Given the description of an element on the screen output the (x, y) to click on. 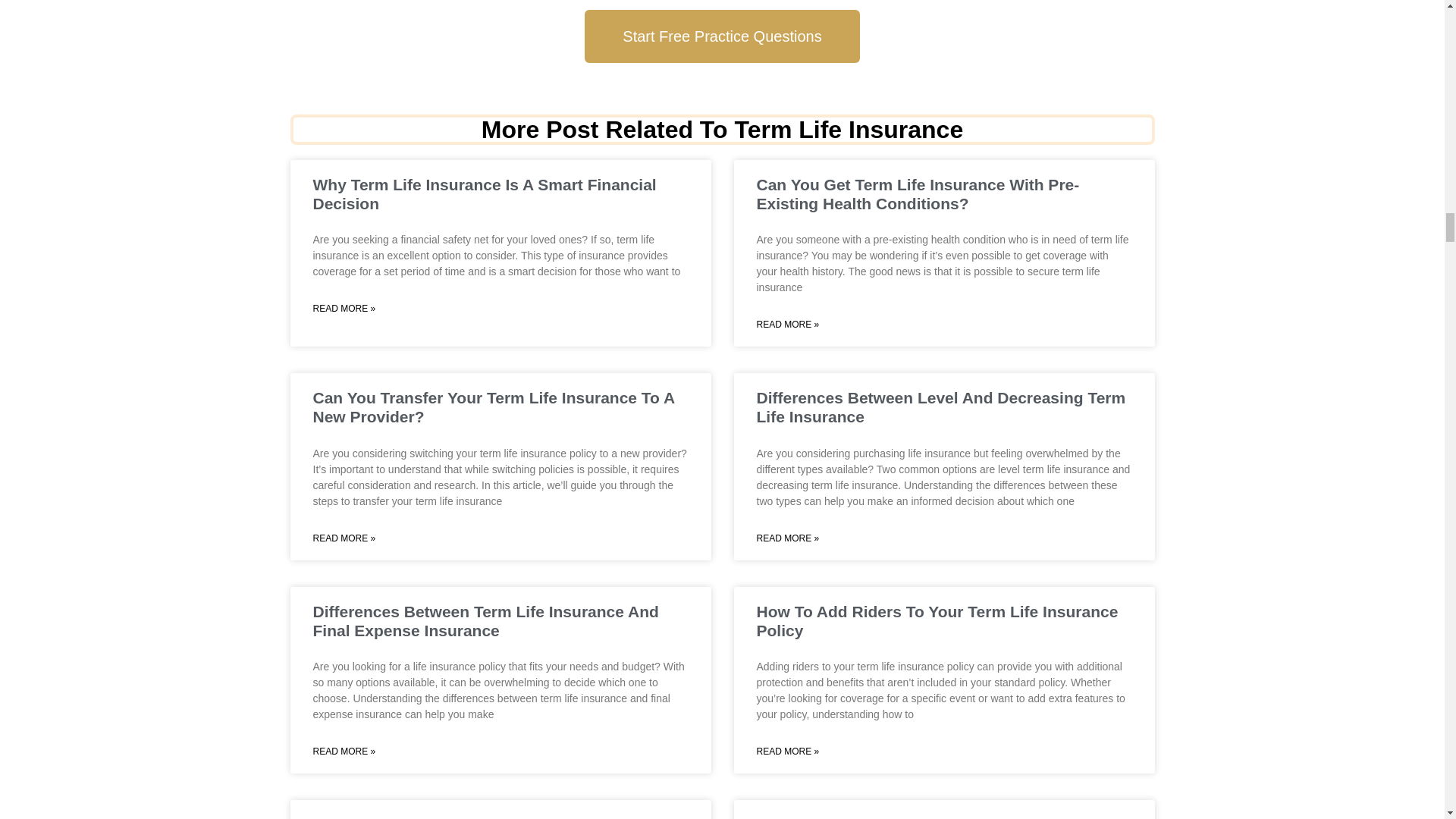
Why Term Life Insurance Is A Smart Financial Decision (484, 194)
Term Life Insurance (847, 129)
Start Free Practice Questions (722, 36)
